Given the description of an element on the screen output the (x, y) to click on. 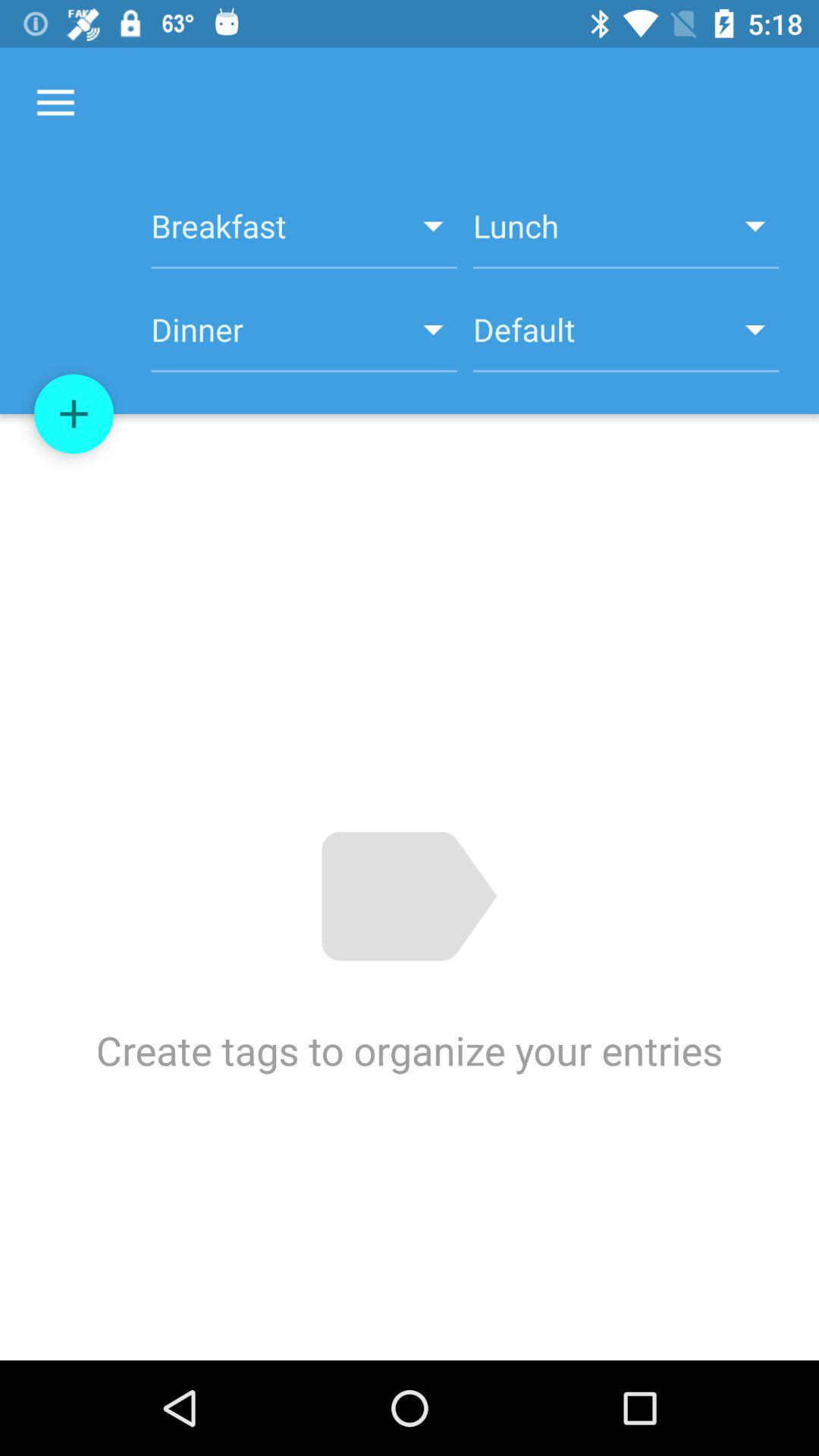
jump to breakfast icon (304, 234)
